Given the description of an element on the screen output the (x, y) to click on. 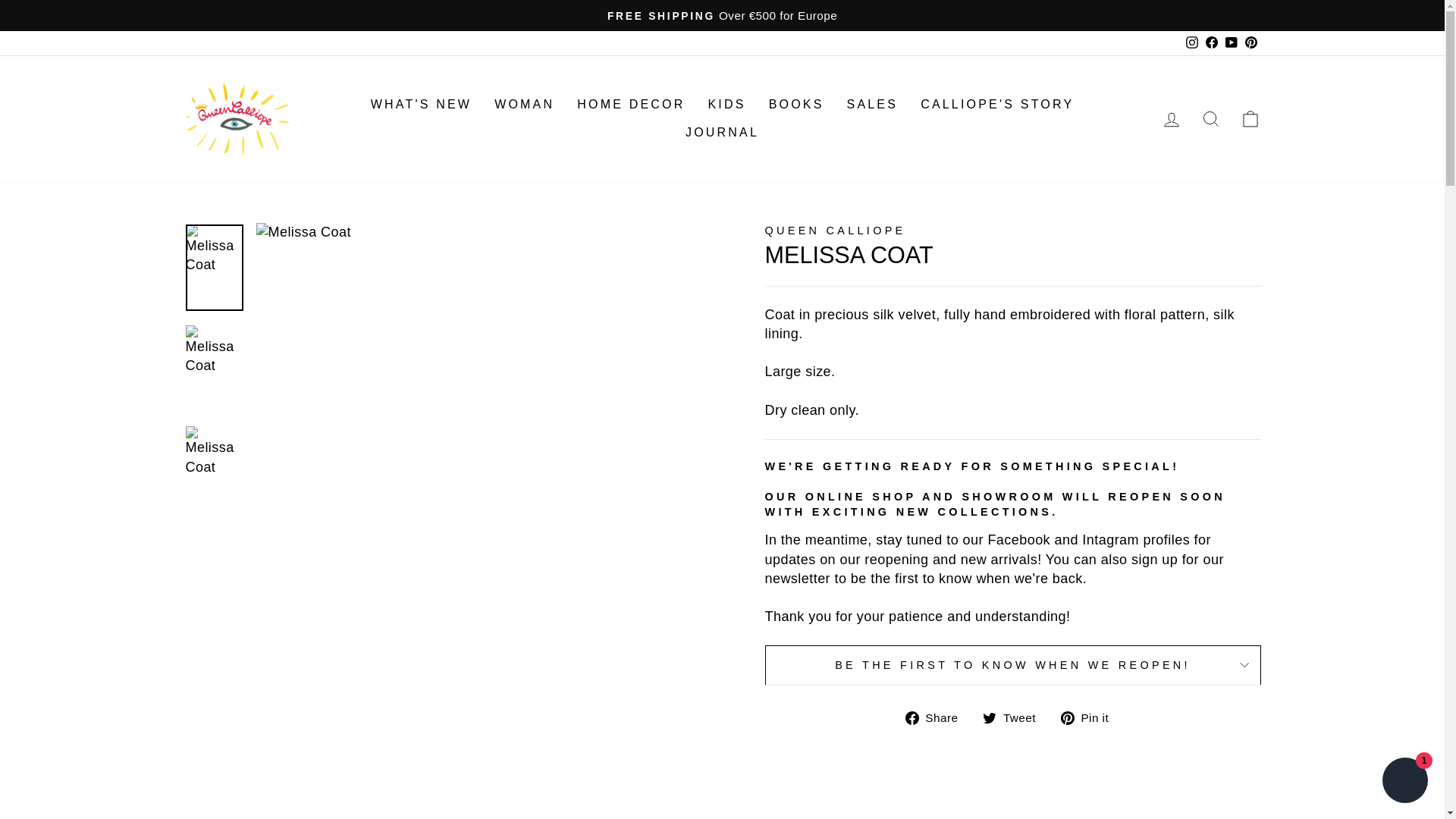
Shopify online store chat (1404, 781)
Queen Calliope on Instagram (1190, 42)
Queen Calliope on Facebook (1211, 42)
Queen Calliope on Pinterest (1250, 42)
Queen Calliope (834, 230)
Tweet on Twitter (1014, 717)
Share on Facebook (937, 717)
Queen Calliope on YouTube (1230, 42)
Pin on Pinterest (1090, 717)
